Given the description of an element on the screen output the (x, y) to click on. 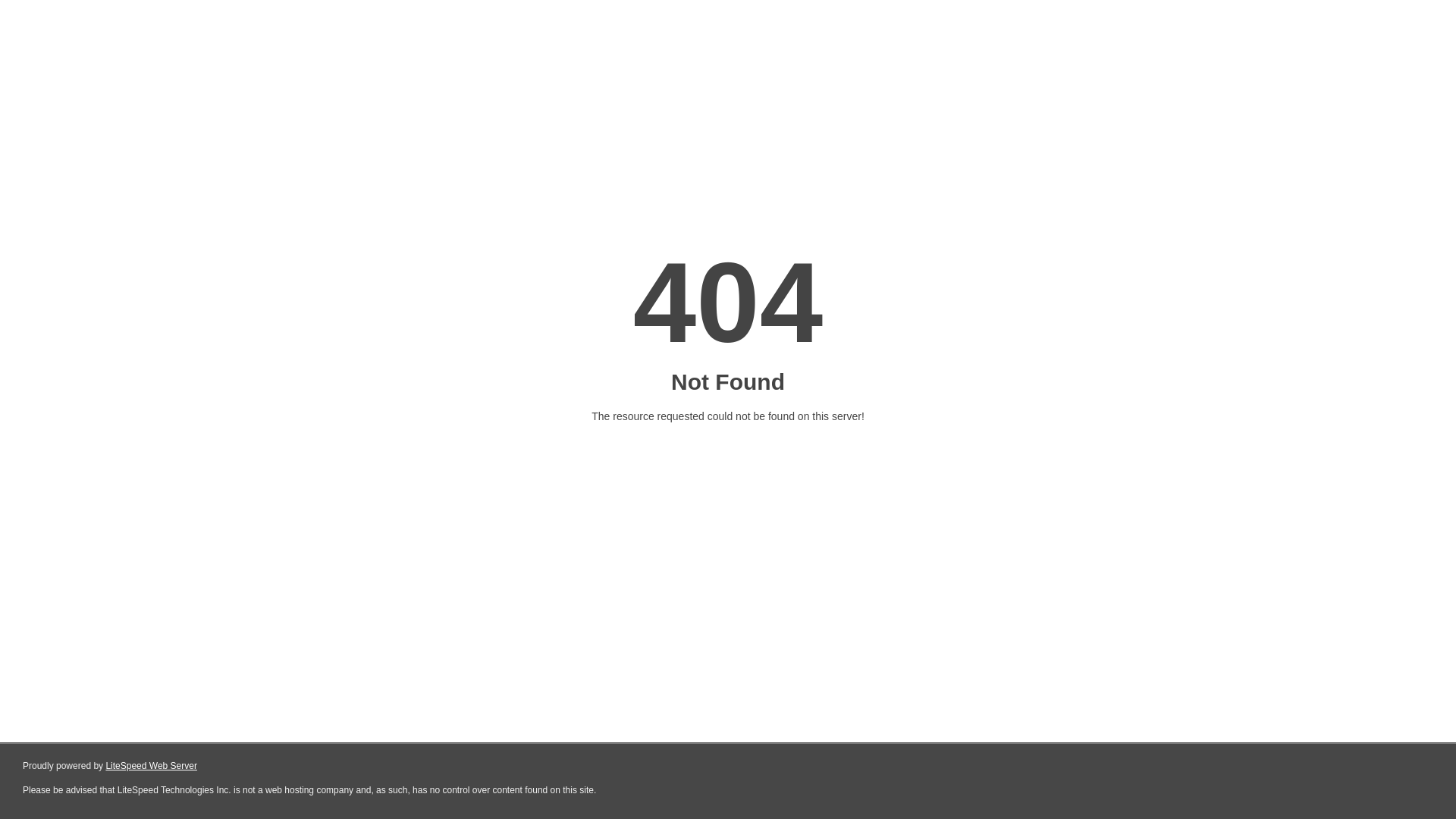
LiteSpeed Web Server Element type: text (151, 765)
